Given the description of an element on the screen output the (x, y) to click on. 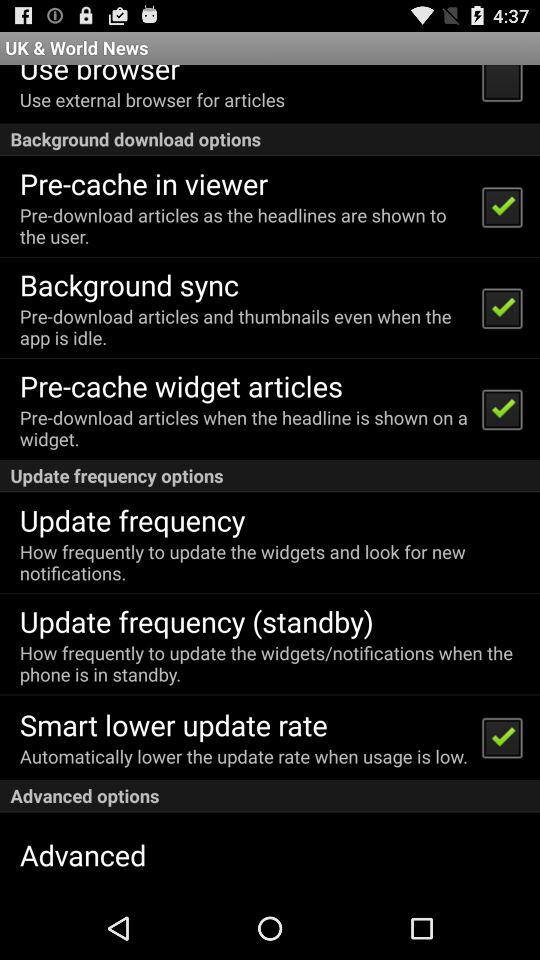
flip until the background download options item (270, 138)
